Given the description of an element on the screen output the (x, y) to click on. 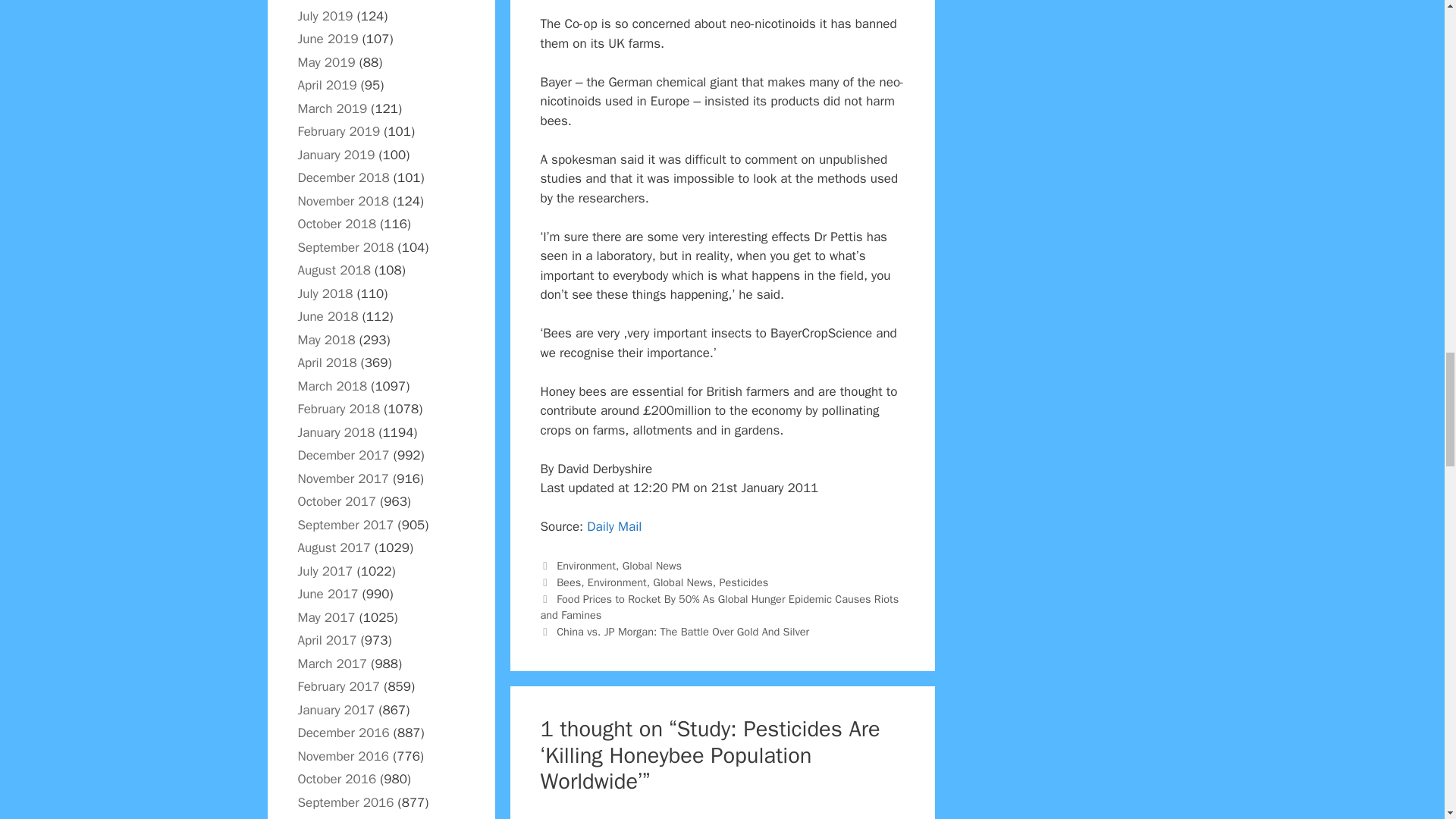
Environment (617, 581)
Pesticides (743, 581)
Global News (681, 581)
Daily Mail (614, 526)
Environment (585, 565)
Bees (568, 581)
China vs. JP Morgan: The Battle Over Gold And Silver (682, 631)
Global News (652, 565)
